Given the description of an element on the screen output the (x, y) to click on. 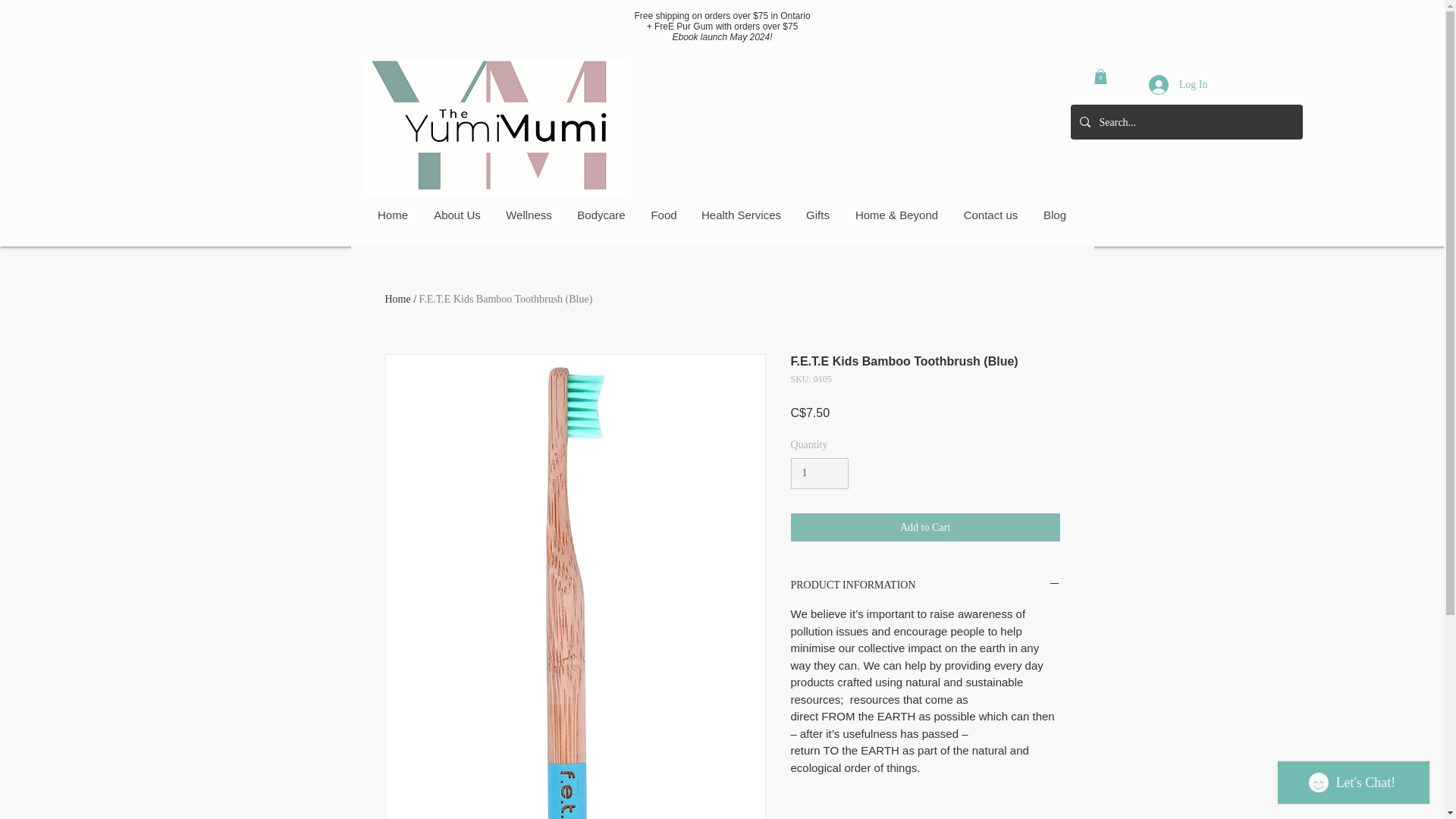
0 (1099, 76)
Blog (1053, 214)
Log In (1178, 83)
1 (818, 472)
Home (392, 214)
PRODUCT INFORMATION (924, 585)
Contact us (990, 214)
0 (1099, 76)
Home (397, 298)
Add to Cart (924, 527)
